Given the description of an element on the screen output the (x, y) to click on. 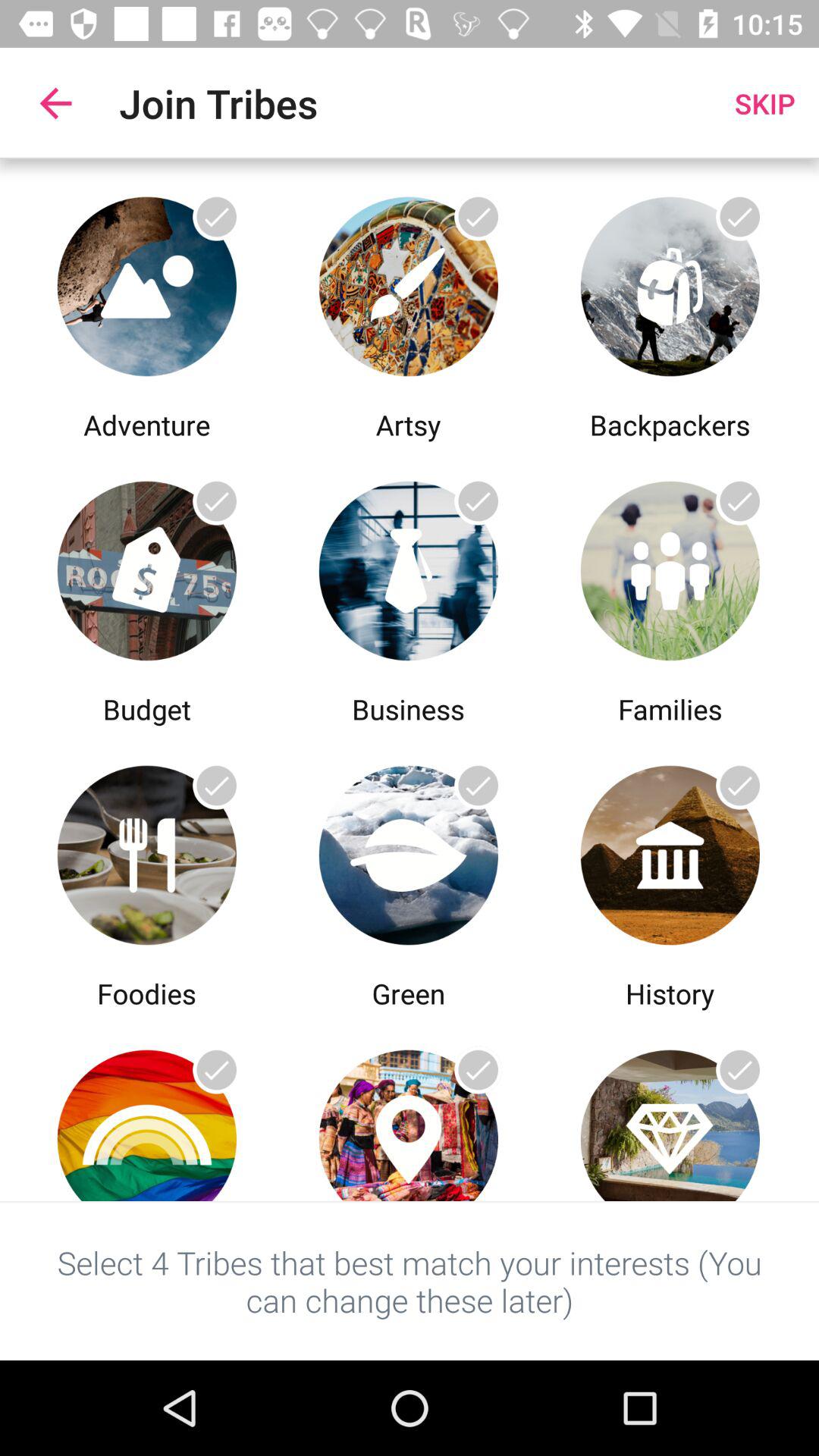
open 1st app (146, 282)
